Given the description of an element on the screen output the (x, y) to click on. 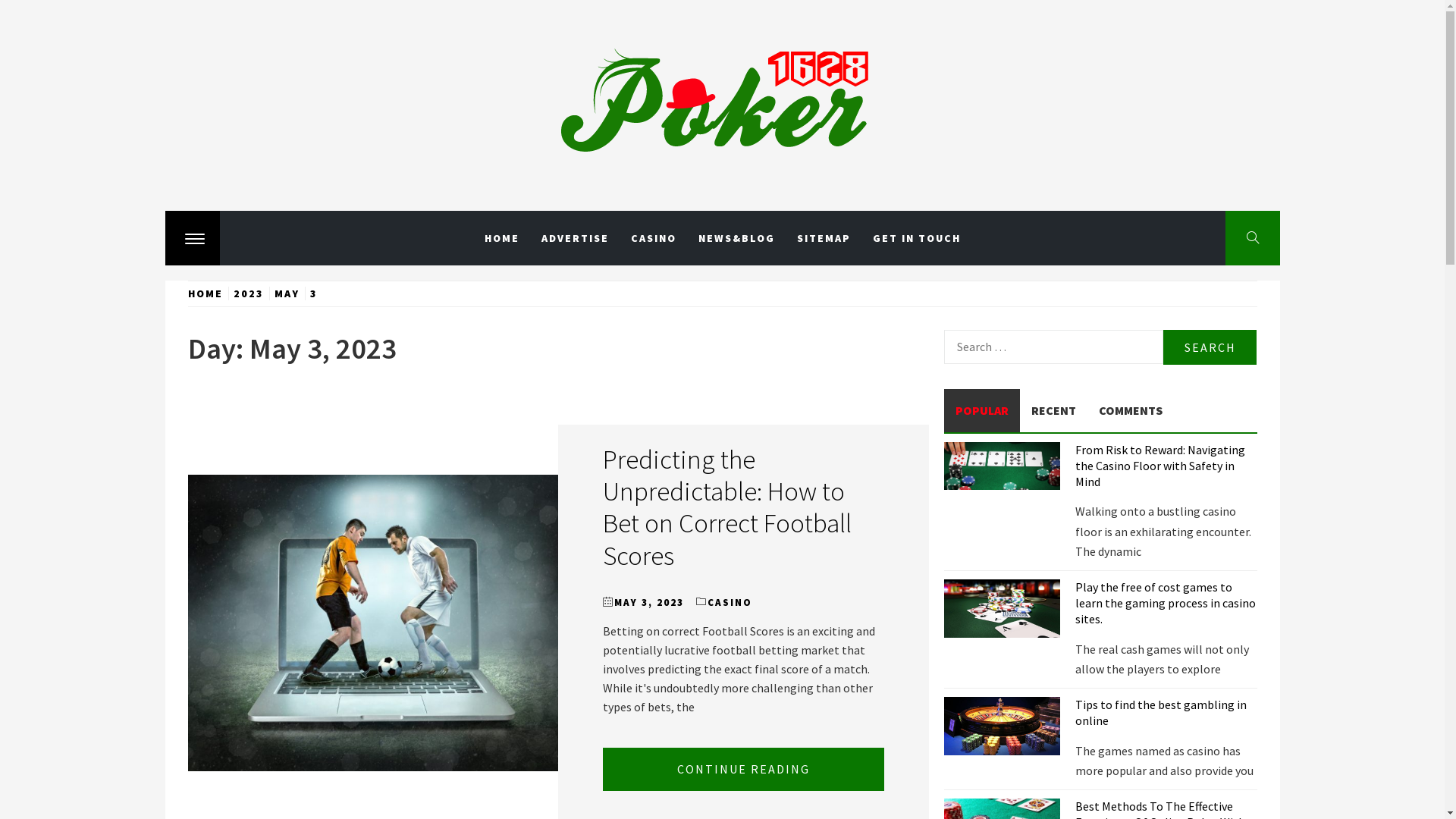
MAY Element type: text (286, 293)
Toggle menu Element type: text (192, 237)
MAY 3, 2023 Element type: text (649, 602)
3 Element type: text (313, 293)
Search Element type: text (645, 37)
ADVERTISE Element type: text (574, 237)
Search Element type: text (1210, 346)
HOME Element type: text (208, 293)
SITEMAP Element type: text (823, 237)
CASINO Element type: text (729, 602)
2023 Element type: text (247, 293)
HOME Element type: text (501, 237)
GET IN TOUCH Element type: text (916, 237)
CONTINUE READING Element type: text (743, 768)
CASINO Element type: text (652, 237)
1628 Poker Element type: text (339, 207)
Tips to find the best gambling in online Element type: text (1160, 712)
NEWS&BLOG Element type: text (736, 237)
